Given the description of an element on the screen output the (x, y) to click on. 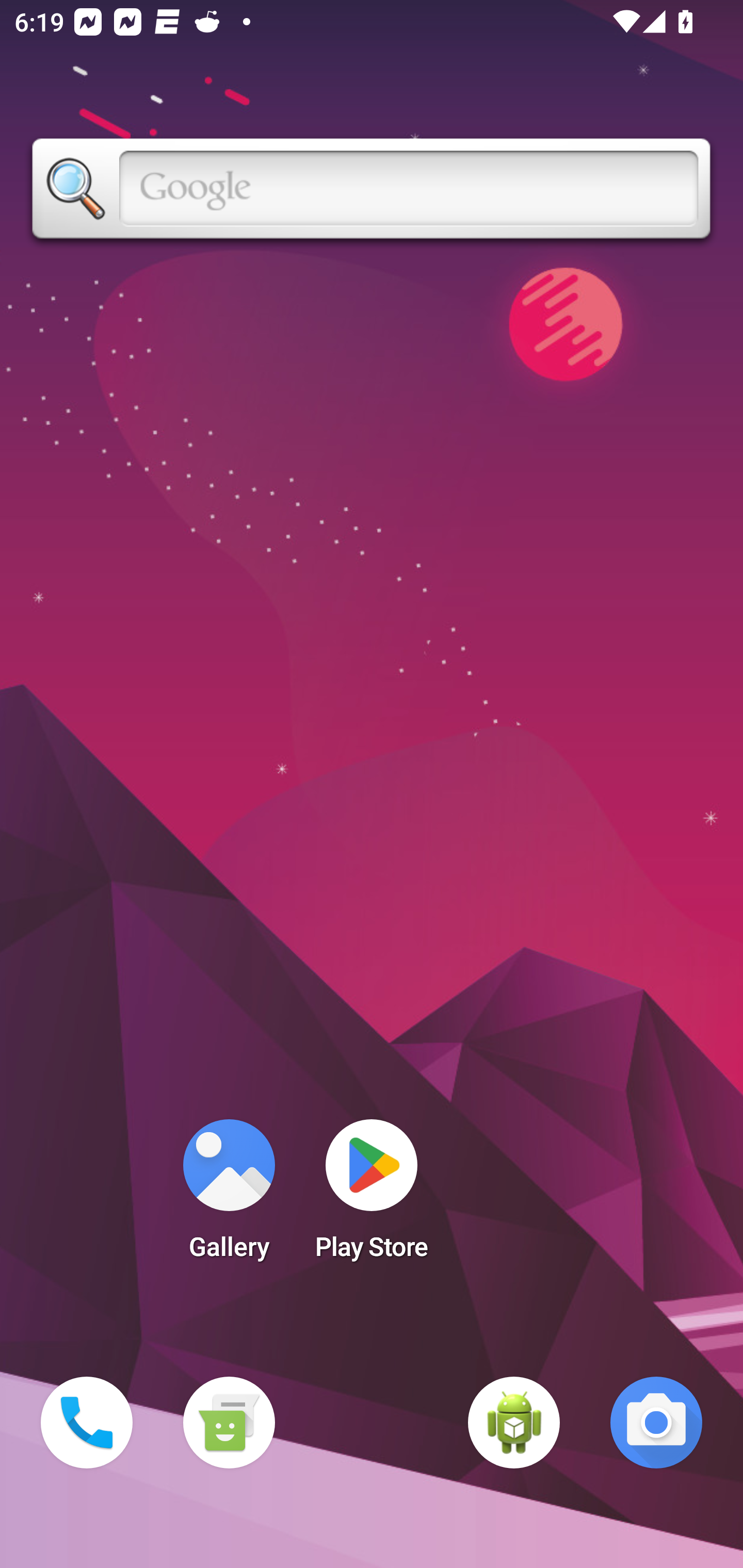
Gallery (228, 1195)
Play Store (371, 1195)
Phone (86, 1422)
Messaging (228, 1422)
WebView Browser Tester (513, 1422)
Camera (656, 1422)
